Given the description of an element on the screen output the (x, y) to click on. 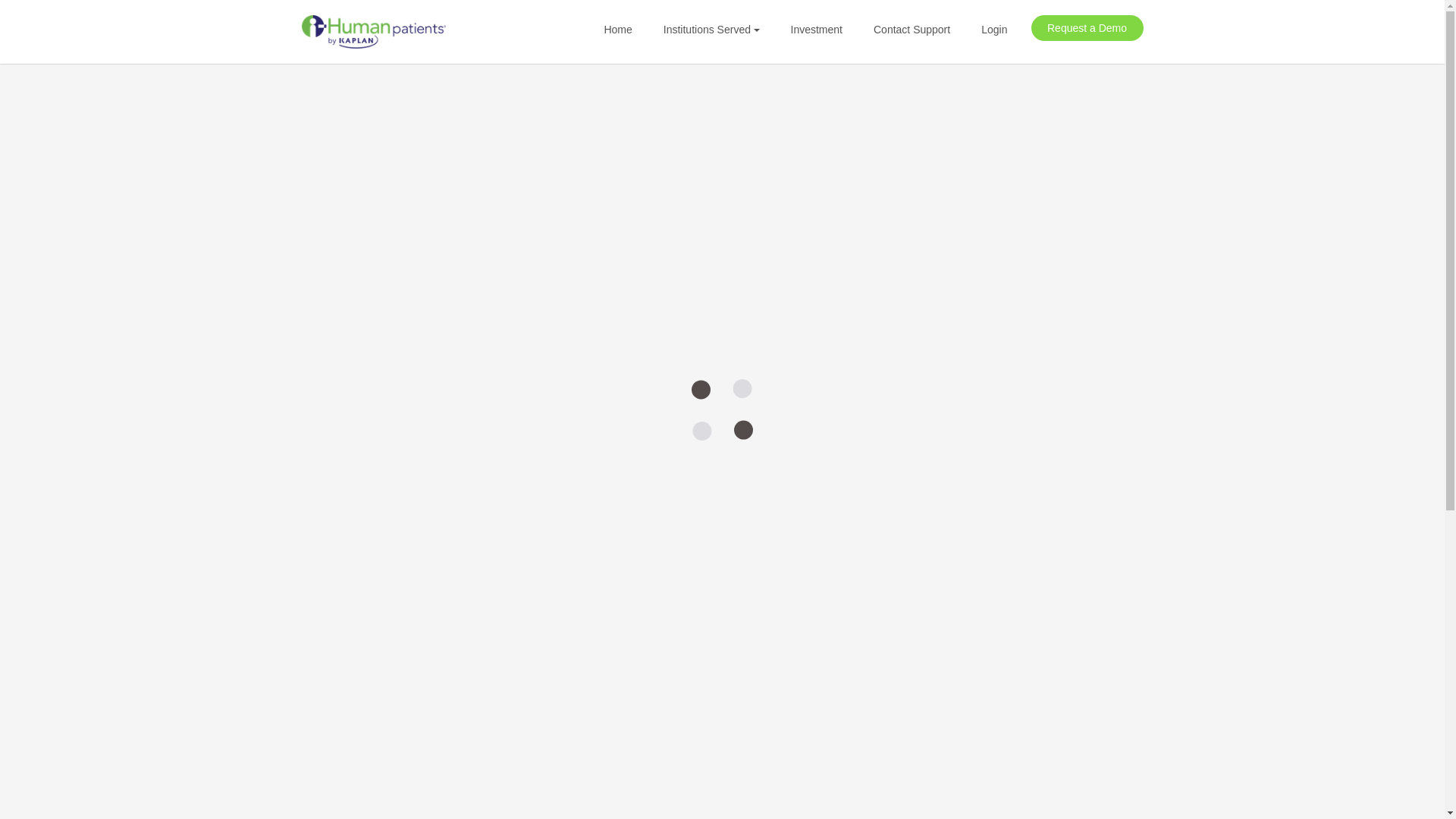
Address (829, 269)
Login (994, 29)
Email Address (714, 236)
Contact Support (912, 29)
Investment (816, 29)
Phone number (701, 201)
Institutions Served (710, 29)
Home (617, 29)
Twitter (684, 317)
Request a Demo (1086, 27)
Facebook (655, 317)
